Given the description of an element on the screen output the (x, y) to click on. 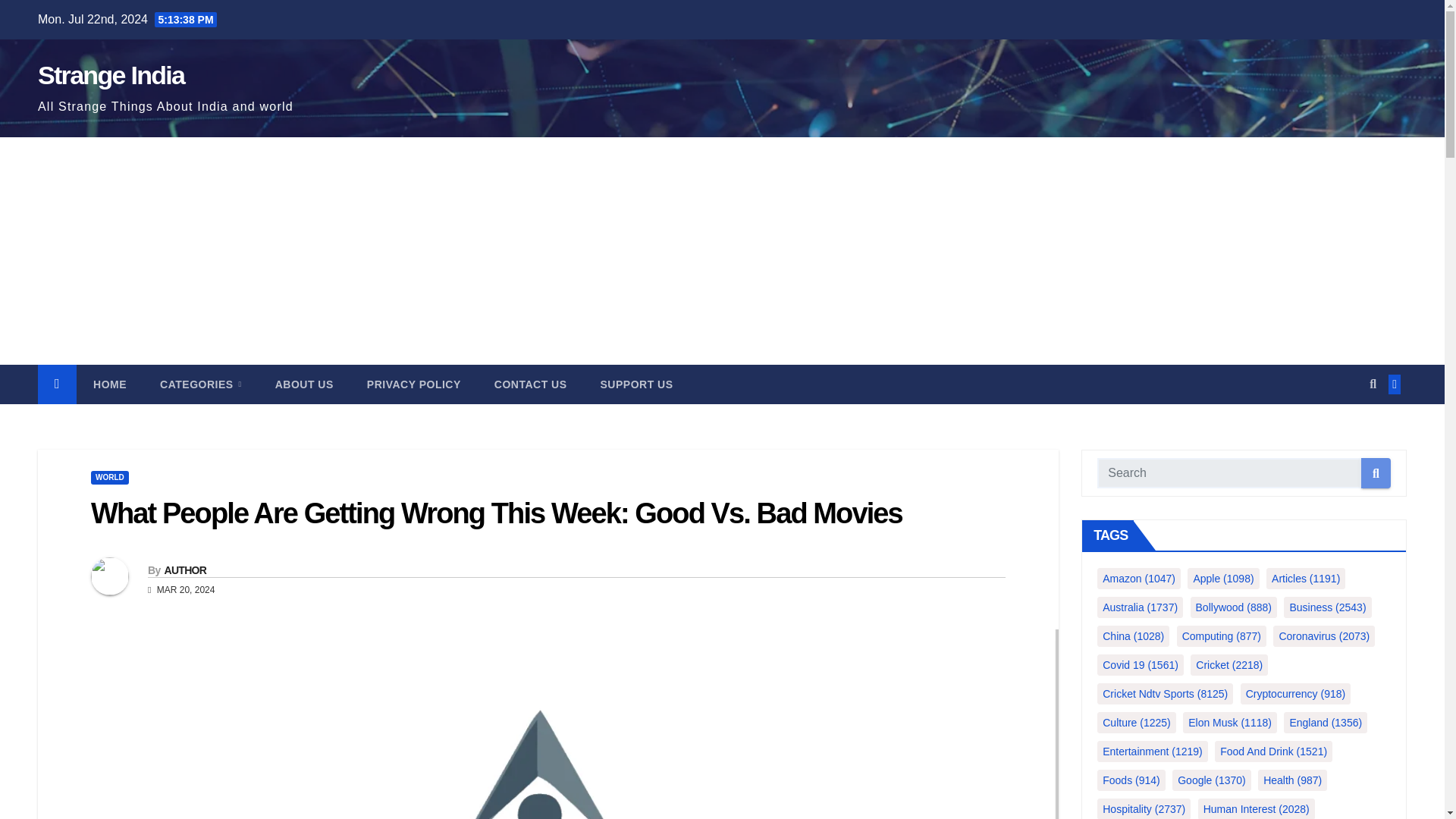
ABOUT US (304, 384)
CATEGORIES (200, 384)
SUPPORT US (636, 384)
CONTACT US (530, 384)
What People Are Getting Wrong This Week: Good Vs. Bad Movies (496, 513)
CONTACT US (530, 384)
PRIVACY POLICY (413, 384)
AUTHOR (184, 570)
PRIVACY POLICY (413, 384)
ABOUT US (304, 384)
WORLD (109, 477)
Strange India (110, 74)
CATEGORIES (200, 384)
HOME (109, 384)
Home (109, 384)
